Given the description of an element on the screen output the (x, y) to click on. 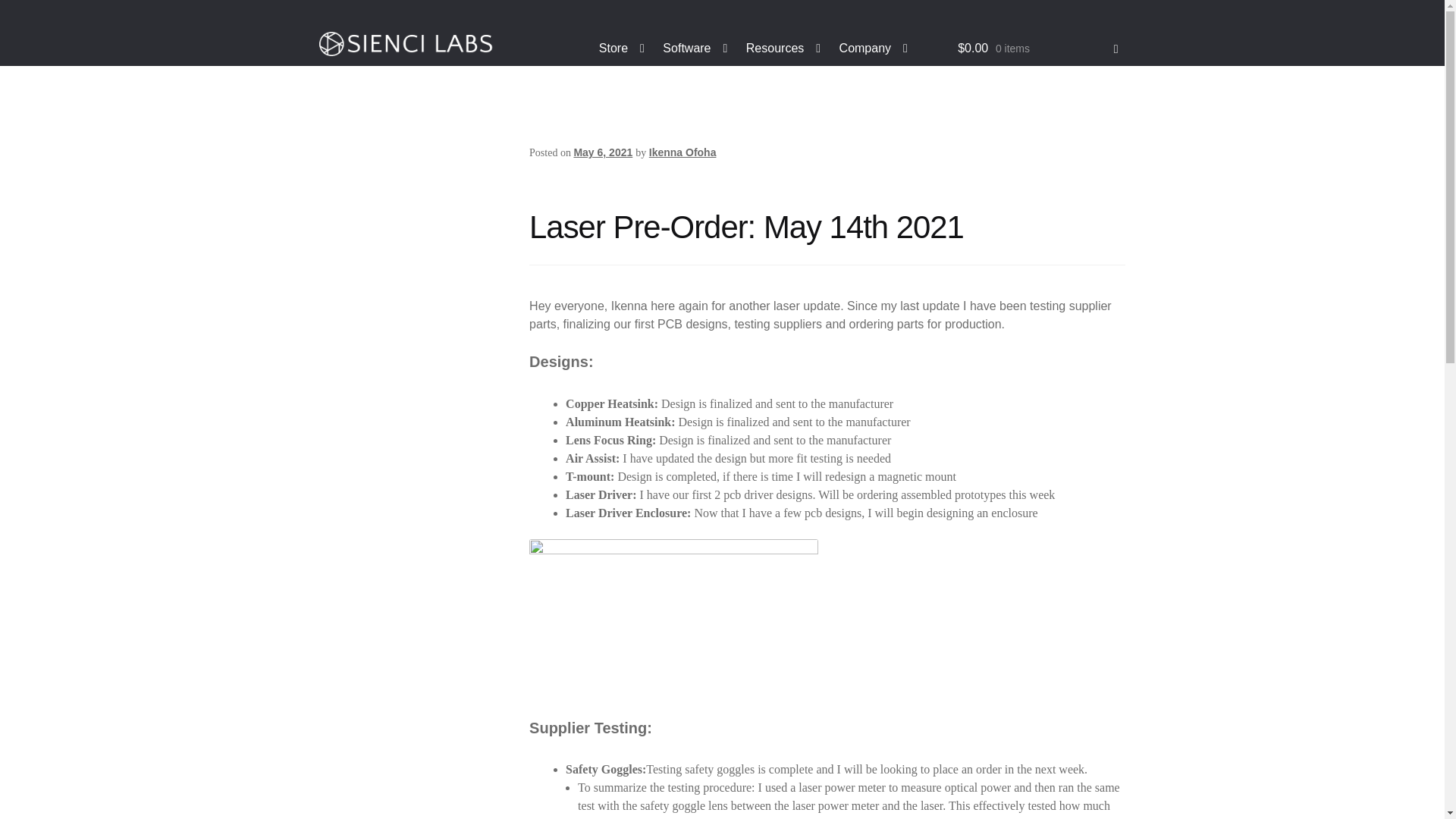
Company (873, 48)
View your shopping cart (1037, 48)
Resources (783, 48)
Software (695, 48)
Store (621, 48)
